Given the description of an element on the screen output the (x, y) to click on. 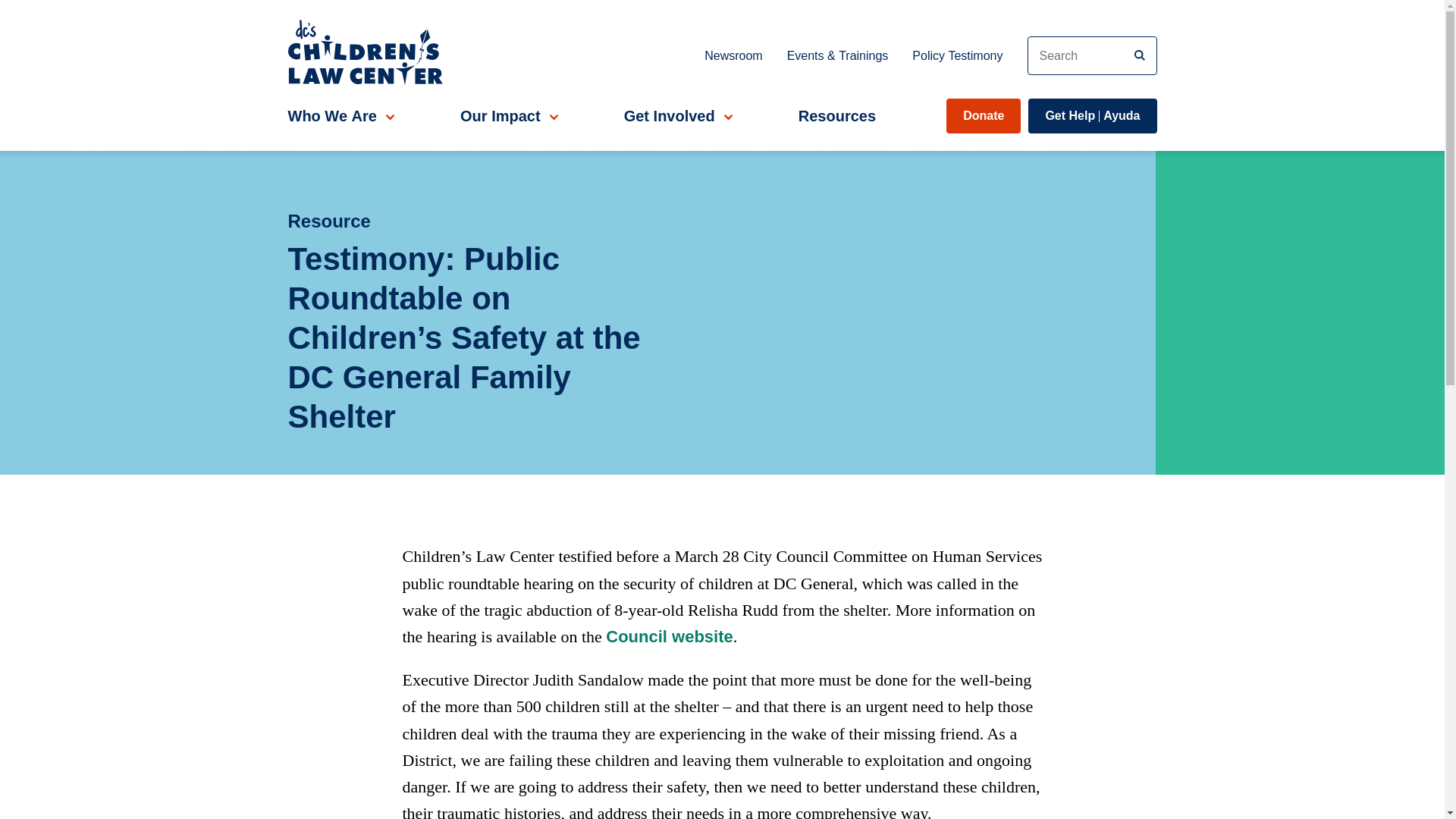
Resources (836, 115)
Get Involved (676, 115)
Submit search (1139, 55)
Who We Are (339, 115)
Donate (983, 115)
Policy Testimony (1091, 115)
Resource (957, 54)
Newsroom (480, 220)
Our Impact (732, 54)
